Given the description of an element on the screen output the (x, y) to click on. 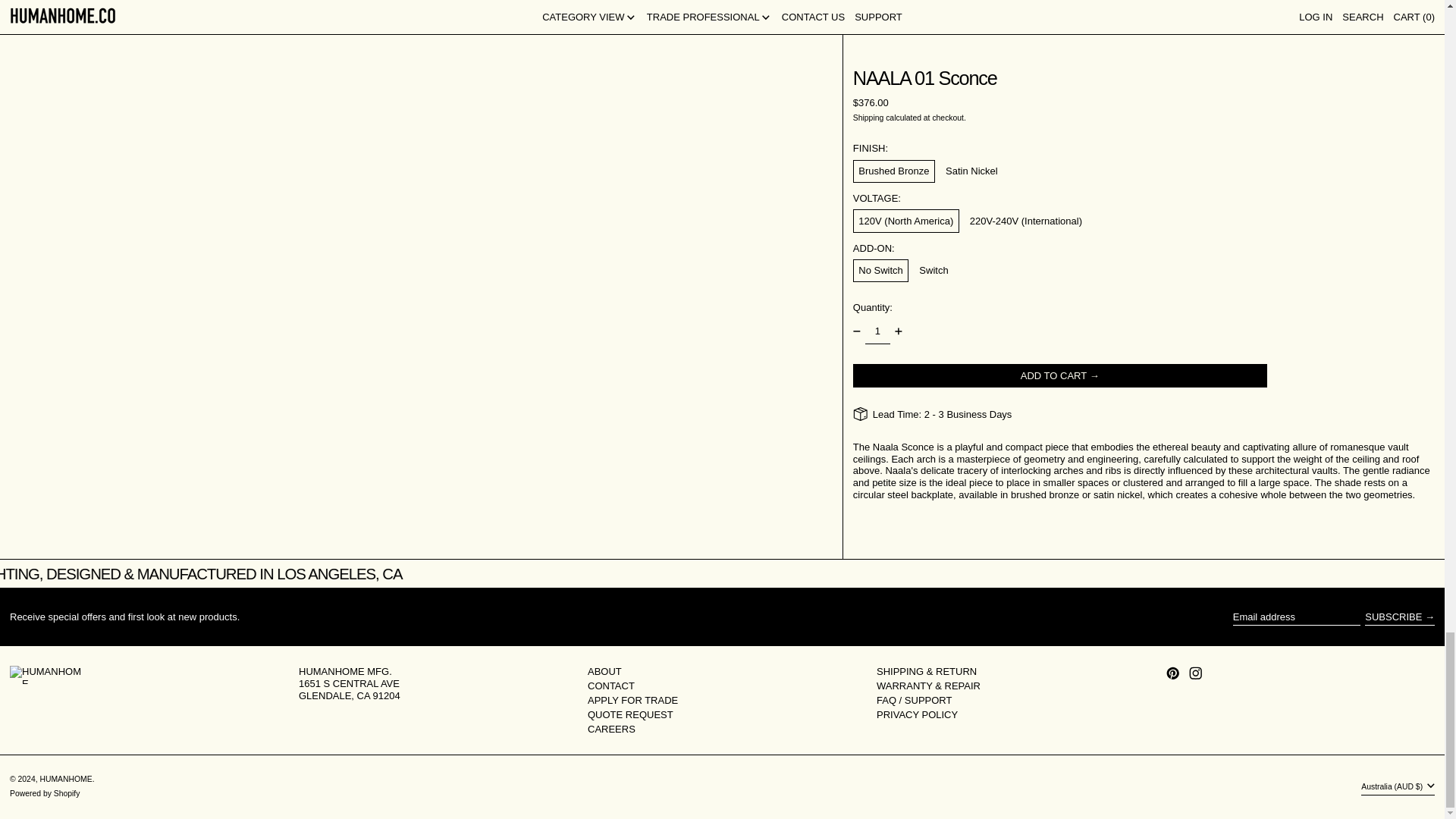
SUBSCRIBE (1399, 616)
ABOUT (604, 671)
